Given the description of an element on the screen output the (x, y) to click on. 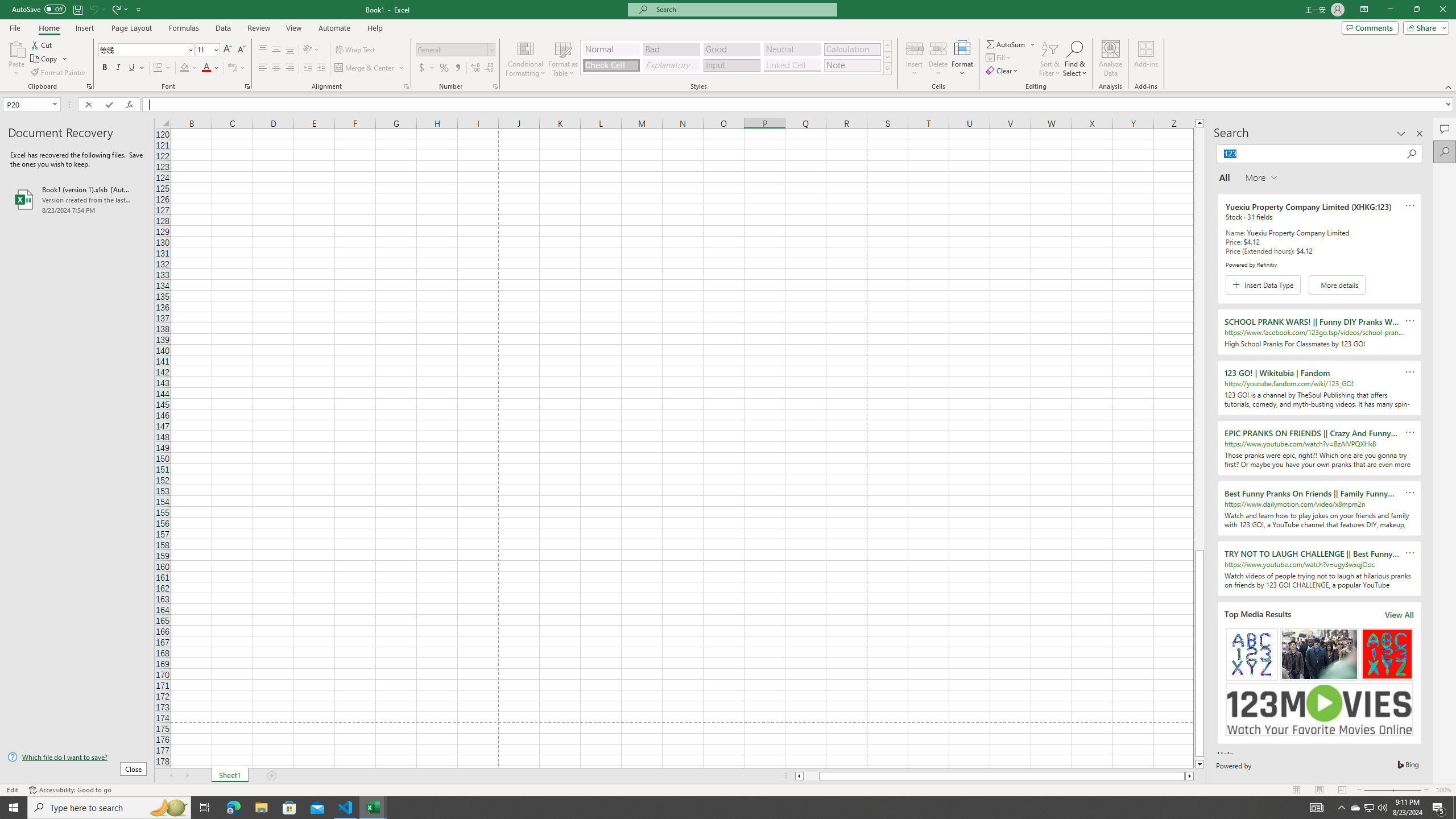
Increase Indent (320, 67)
Decrease Font Size (240, 49)
Sort & Filter (1049, 58)
